Given the description of an element on the screen output the (x, y) to click on. 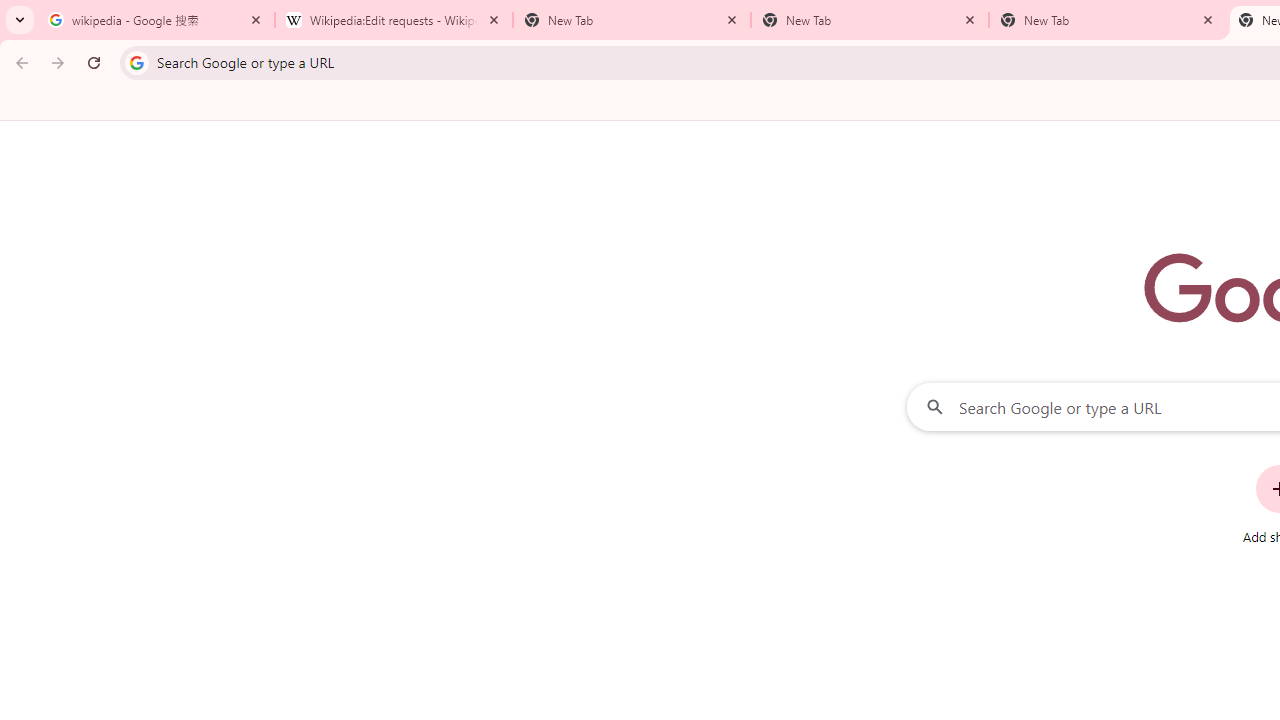
Wikipedia:Edit requests - Wikipedia (394, 20)
New Tab (1108, 20)
New Tab (870, 20)
